Given the description of an element on the screen output the (x, y) to click on. 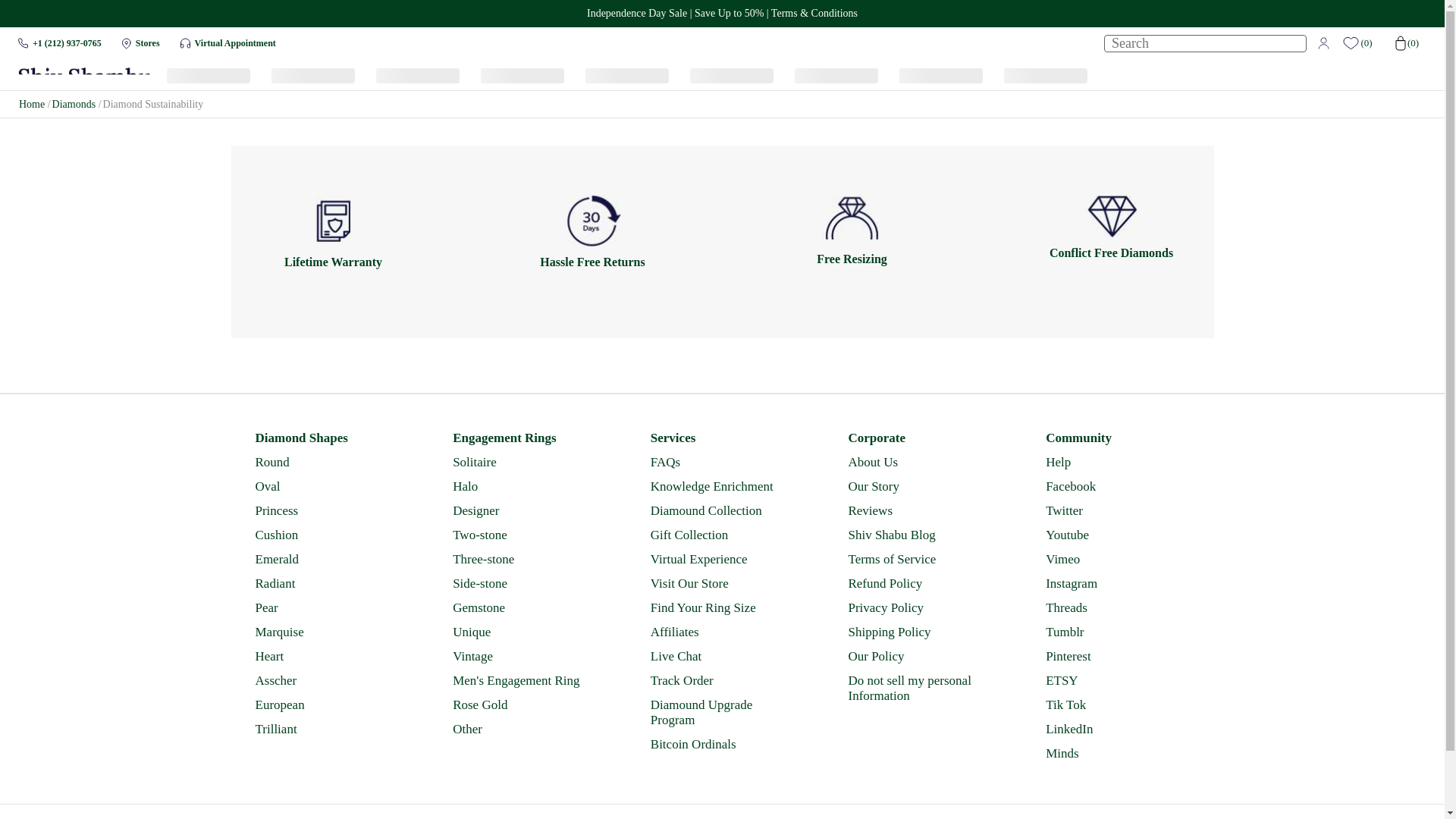
Gemstone (523, 607)
Virtual Appointment (235, 42)
Emerald (325, 559)
Unique (523, 631)
Two-stone (523, 534)
Diamond Shapes (325, 437)
Three-stone (523, 559)
Solitaire (523, 462)
Wishlist (1361, 43)
Engagement Rings (523, 437)
Round (325, 462)
European (325, 704)
Trilliant (325, 729)
Cushion (325, 534)
Side-stone (523, 583)
